Given the description of an element on the screen output the (x, y) to click on. 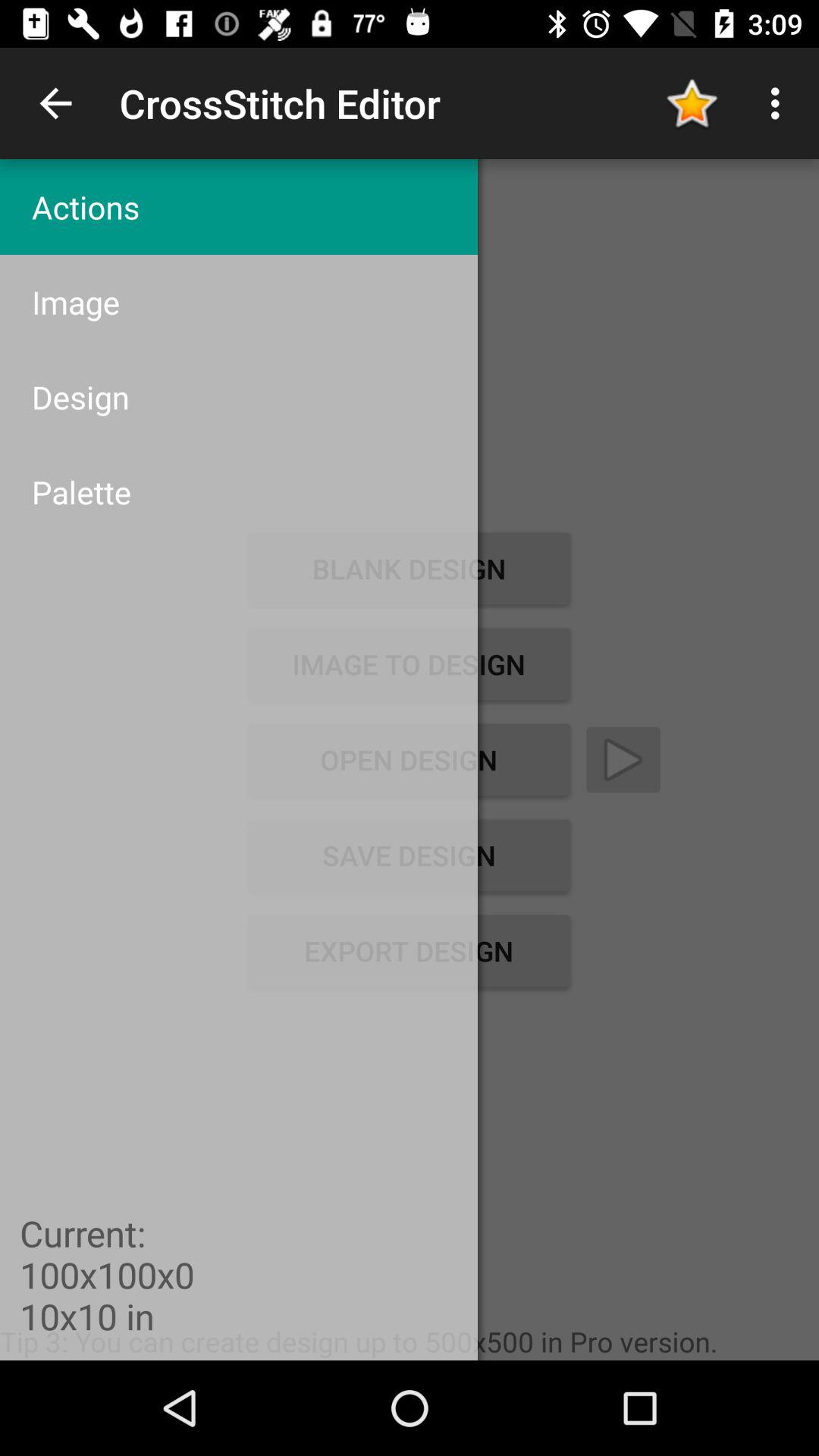
launch the icon above the tip 3 you (409, 950)
